Given the description of an element on the screen output the (x, y) to click on. 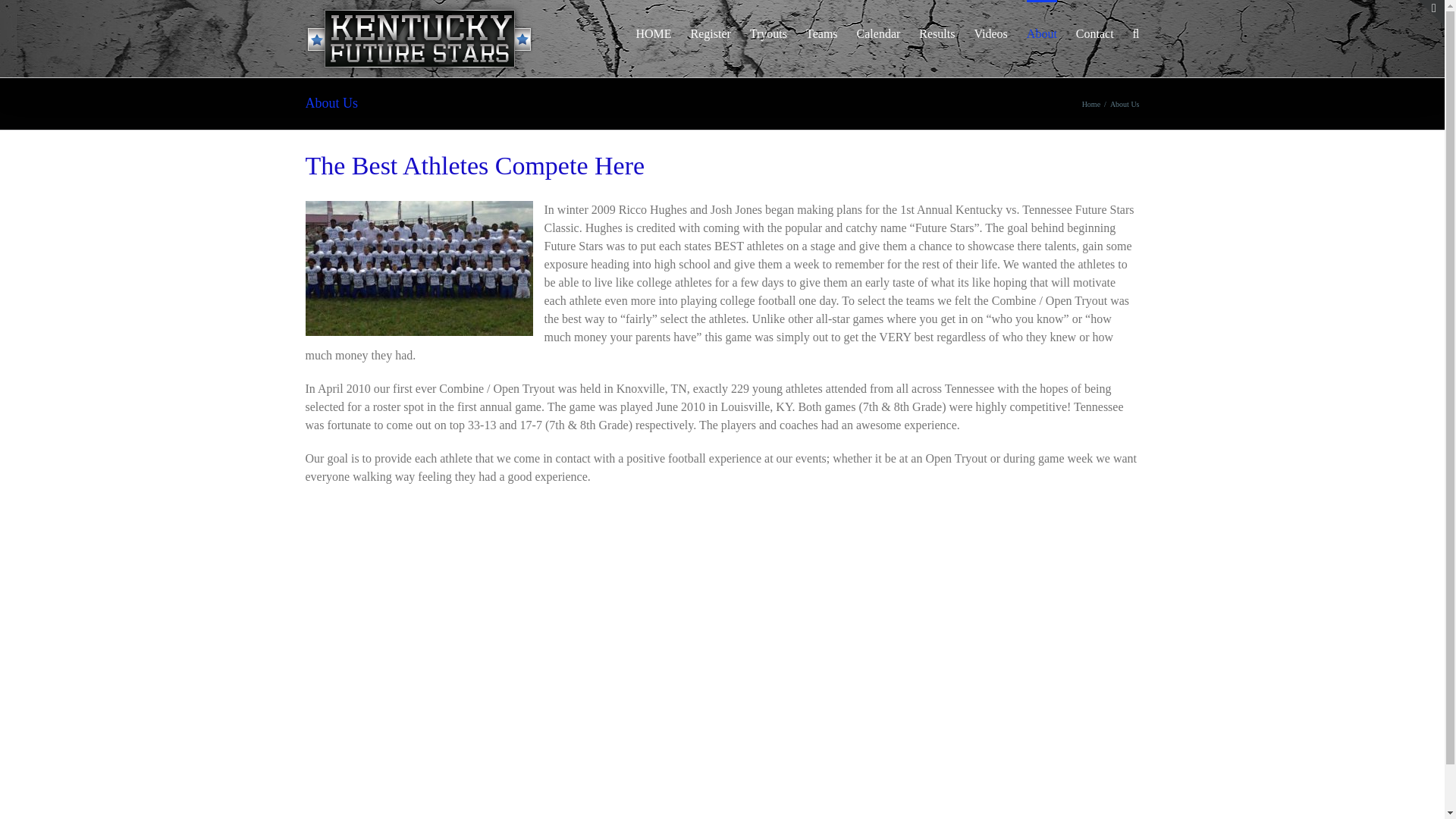
Contact (1094, 32)
Tryouts (768, 32)
Results (936, 32)
About (1041, 32)
YouTube video player (504, 647)
Videos (990, 32)
Calendar (879, 32)
YouTube video player (938, 647)
Teams (822, 32)
HOME (652, 32)
Register (710, 32)
